Given the description of an element on the screen output the (x, y) to click on. 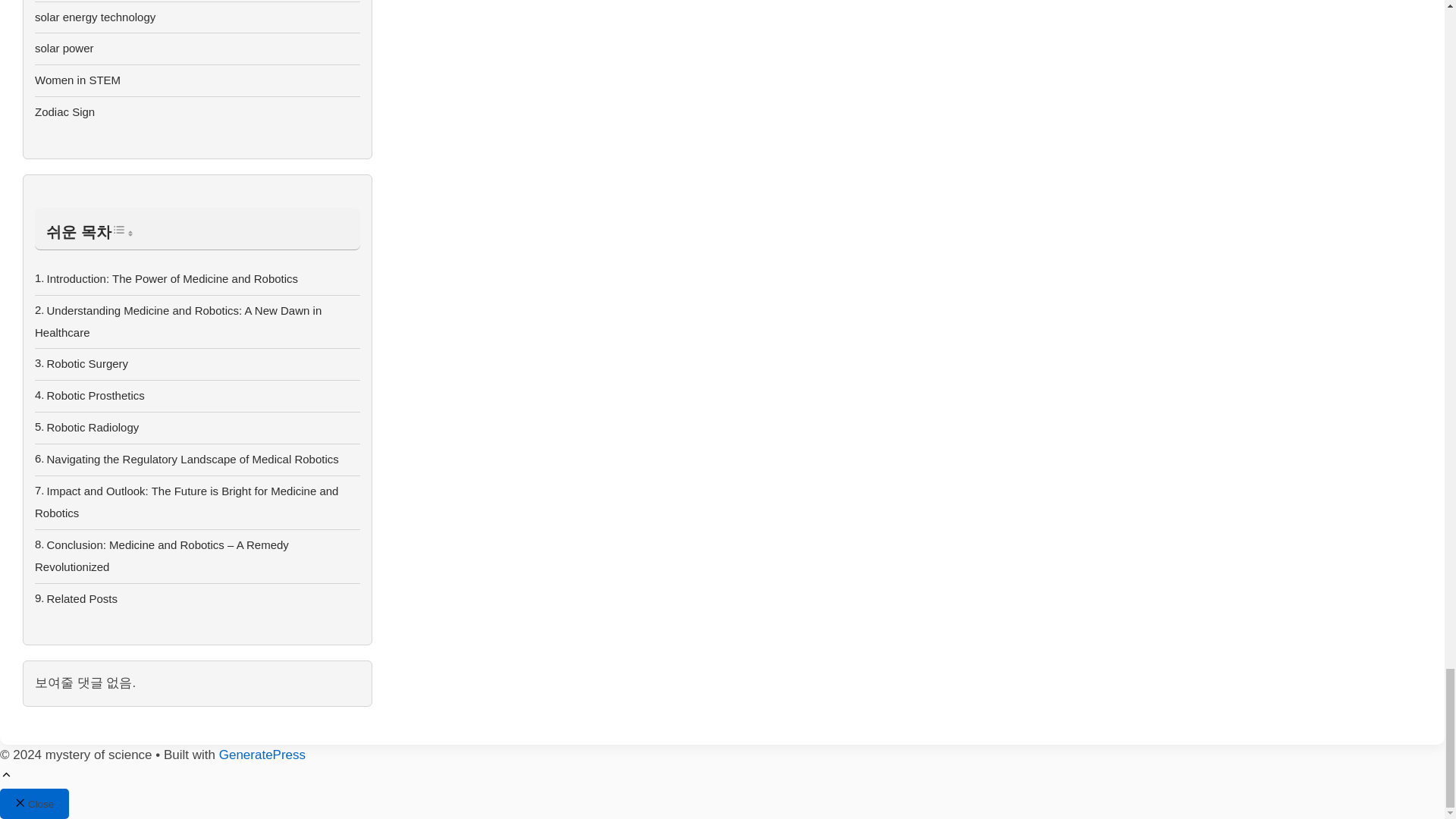
Robotic Surgery (87, 363)
Robotic Radiology (92, 427)
Robotic Prosthetics (95, 395)
Navigating the Regulatory Landscape of Medical Robotics (192, 459)
Introduction: The Power of Medicine and Robotics (172, 278)
